Given the description of an element on the screen output the (x, y) to click on. 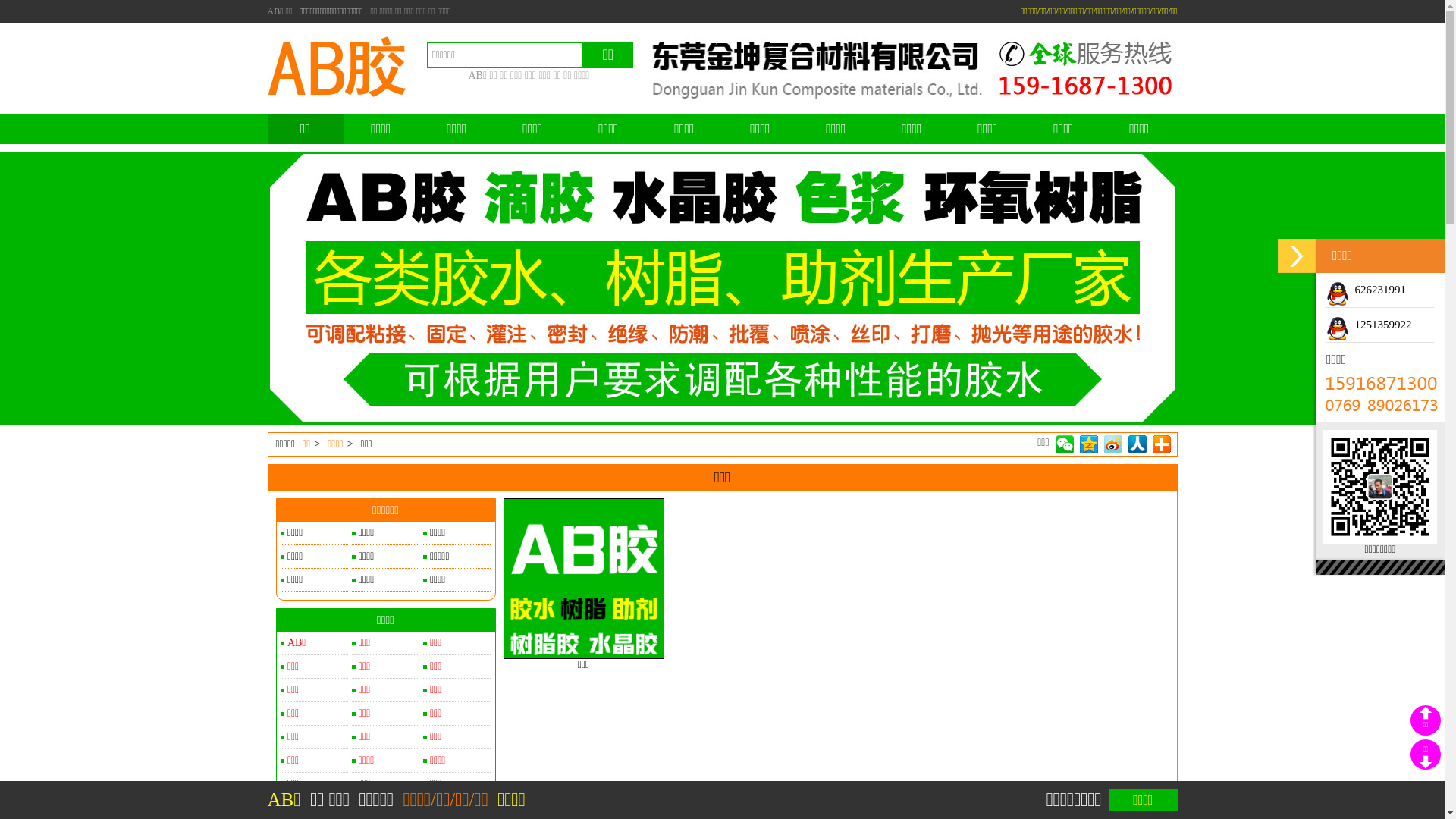
  1251359922 Element type: text (1369, 324)
  626231991 Element type: text (1365, 289)
